Given the description of an element on the screen output the (x, y) to click on. 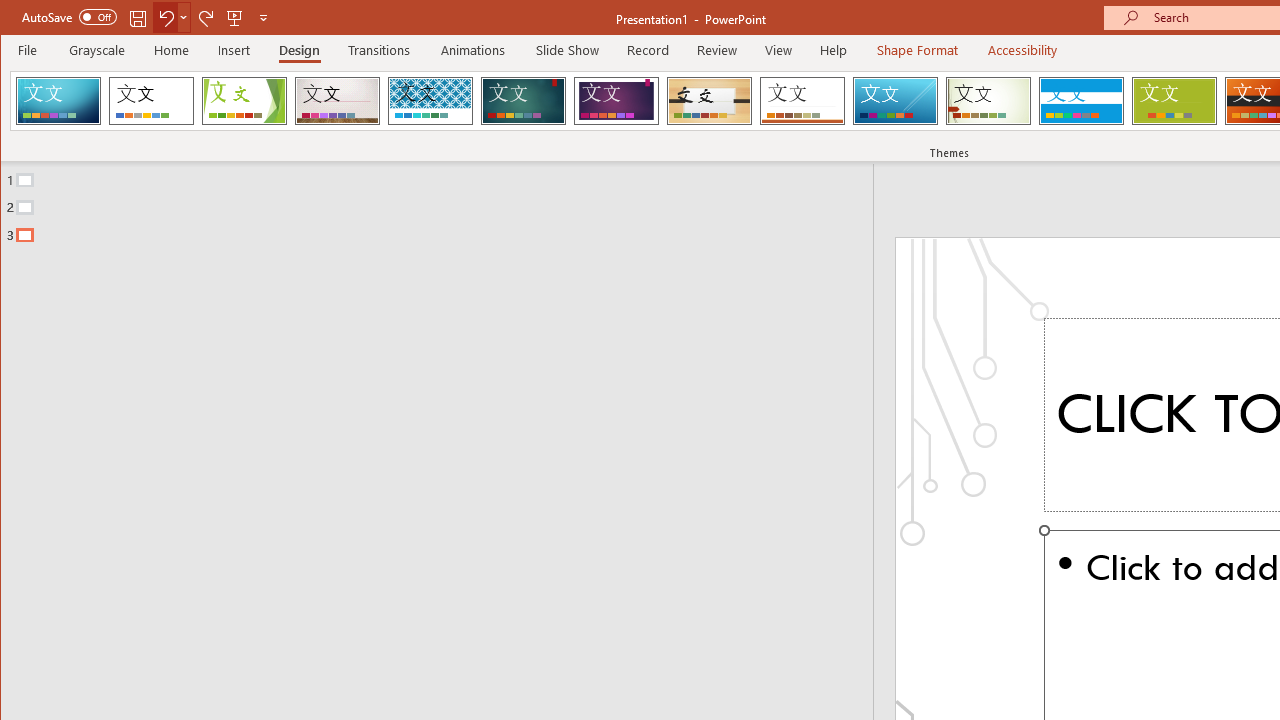
Outline (445, 203)
Grayscale (97, 50)
Integral (430, 100)
Slice (895, 100)
Retrospect (802, 100)
Ion Boardroom (616, 100)
Facet (244, 100)
